Given the description of an element on the screen output the (x, y) to click on. 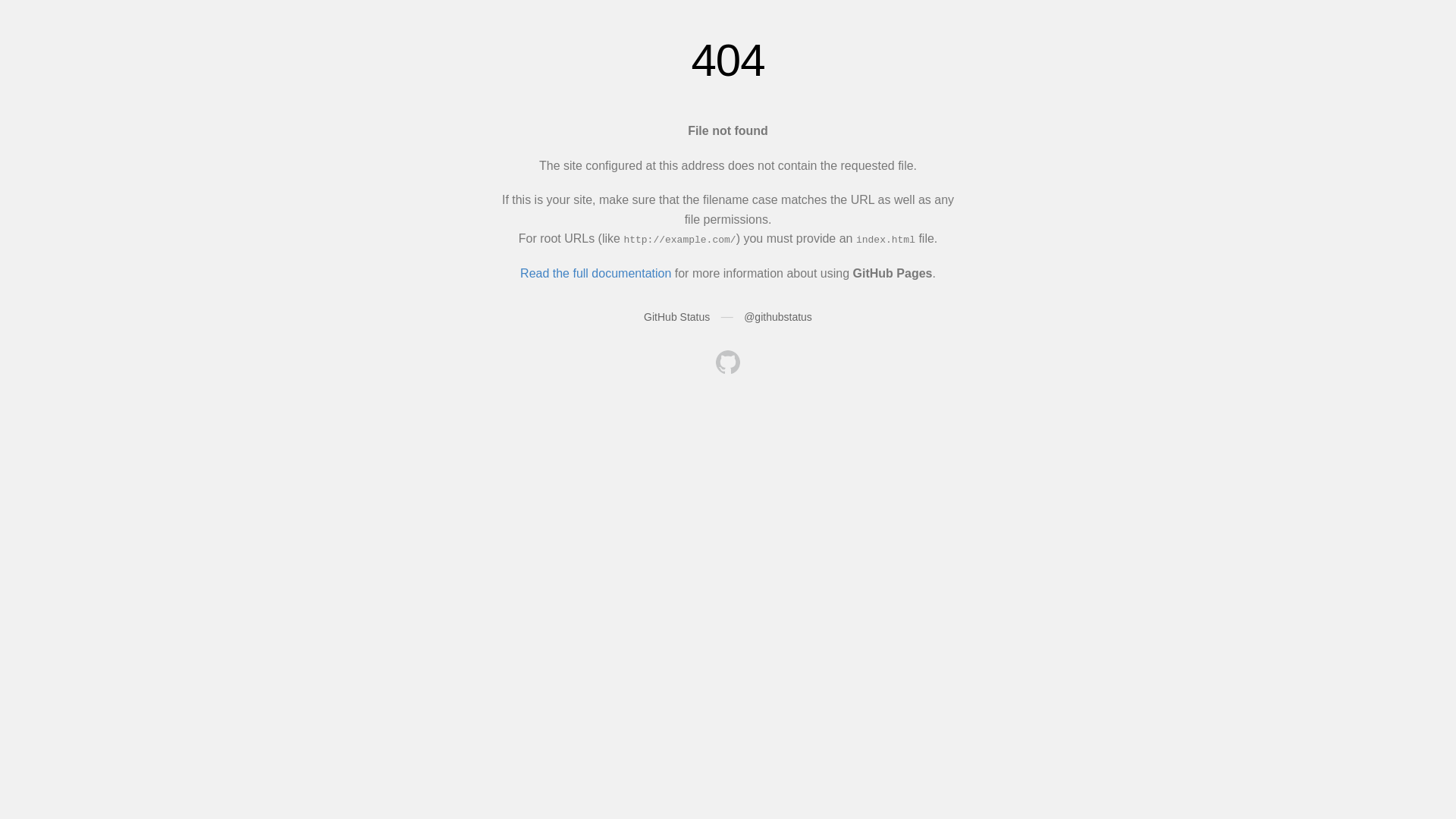
GitHub Status Element type: text (676, 316)
Read the full documentation Element type: text (595, 272)
@githubstatus Element type: text (777, 316)
